Given the description of an element on the screen output the (x, y) to click on. 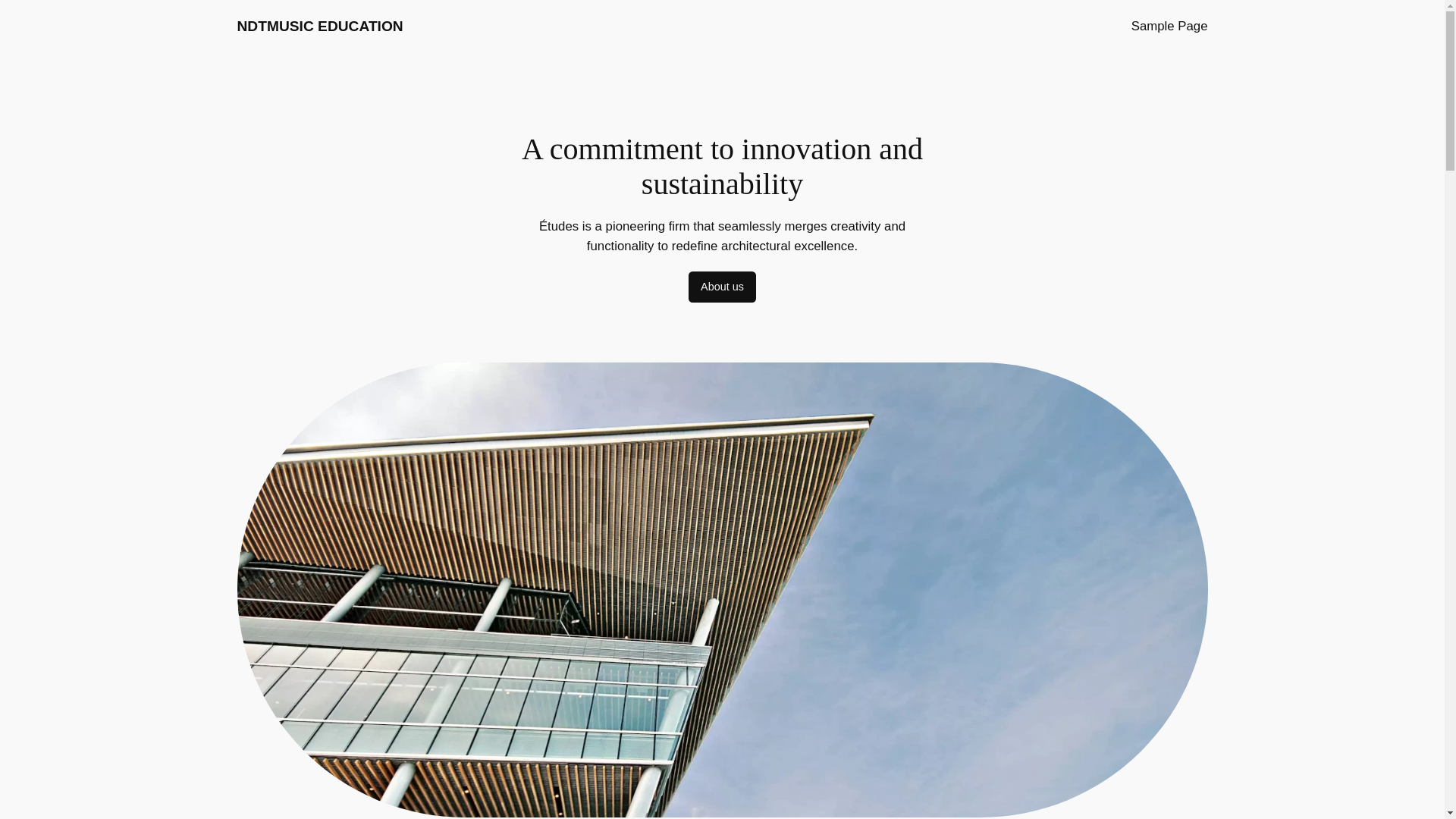
About us (721, 287)
NDTMUSIC EDUCATION (319, 26)
Sample Page (1169, 26)
